Given the description of an element on the screen output the (x, y) to click on. 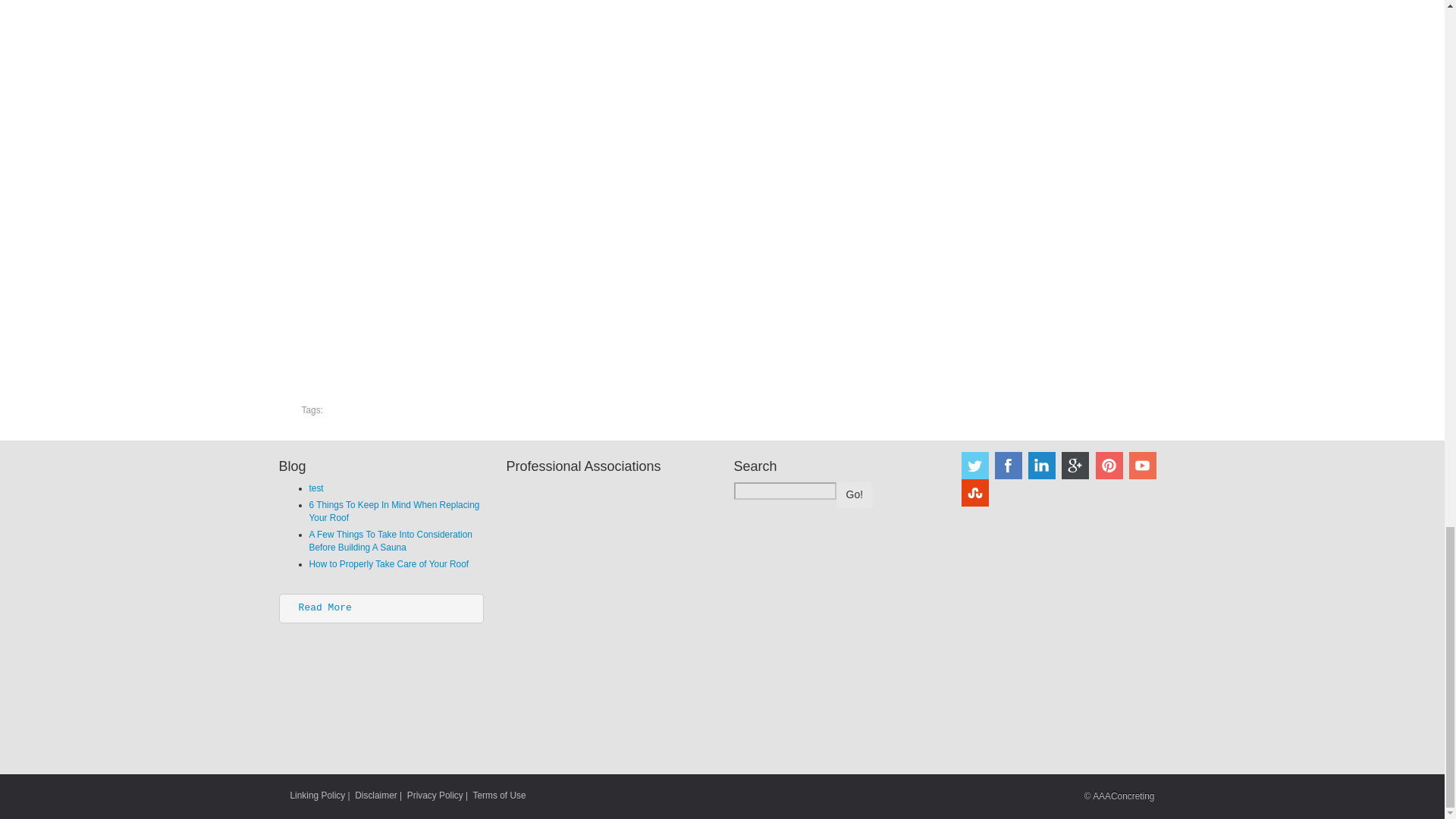
How to Properly Take Care of Your Roof (388, 563)
Linkedin (1041, 465)
Go! (853, 494)
test (315, 488)
Twitter (974, 465)
Read More (325, 607)
6 Things To Keep In Mind When Replacing Your Roof (394, 511)
Google Plus (1075, 465)
